Given the description of an element on the screen output the (x, y) to click on. 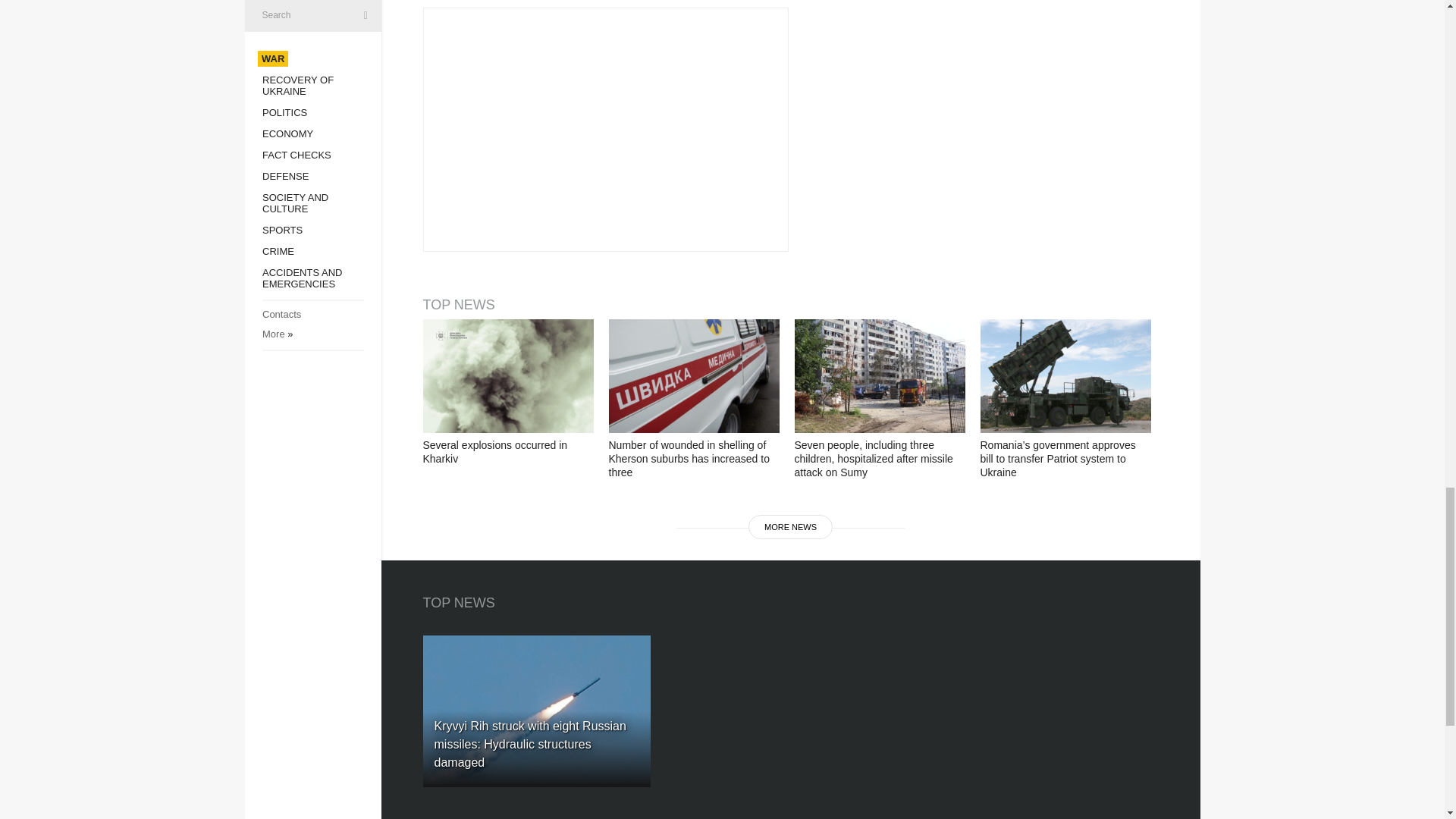
Several explosions occurred in Kharkiv (508, 376)
